Given the description of an element on the screen output the (x, y) to click on. 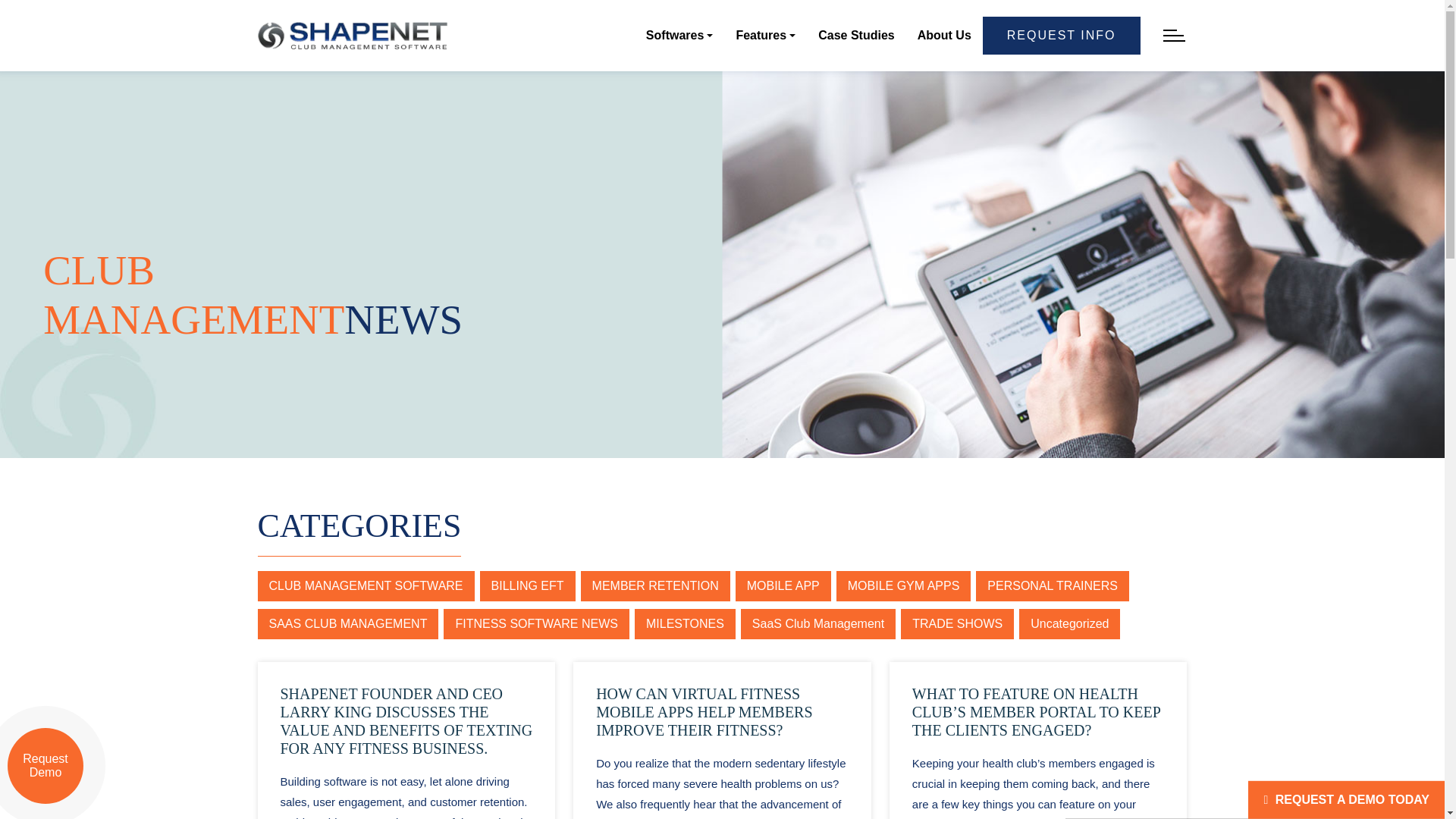
REQUEST INFO (1061, 35)
Features (764, 35)
Case Studies (855, 35)
Softwares (679, 35)
About Us (944, 35)
